Given the description of an element on the screen output the (x, y) to click on. 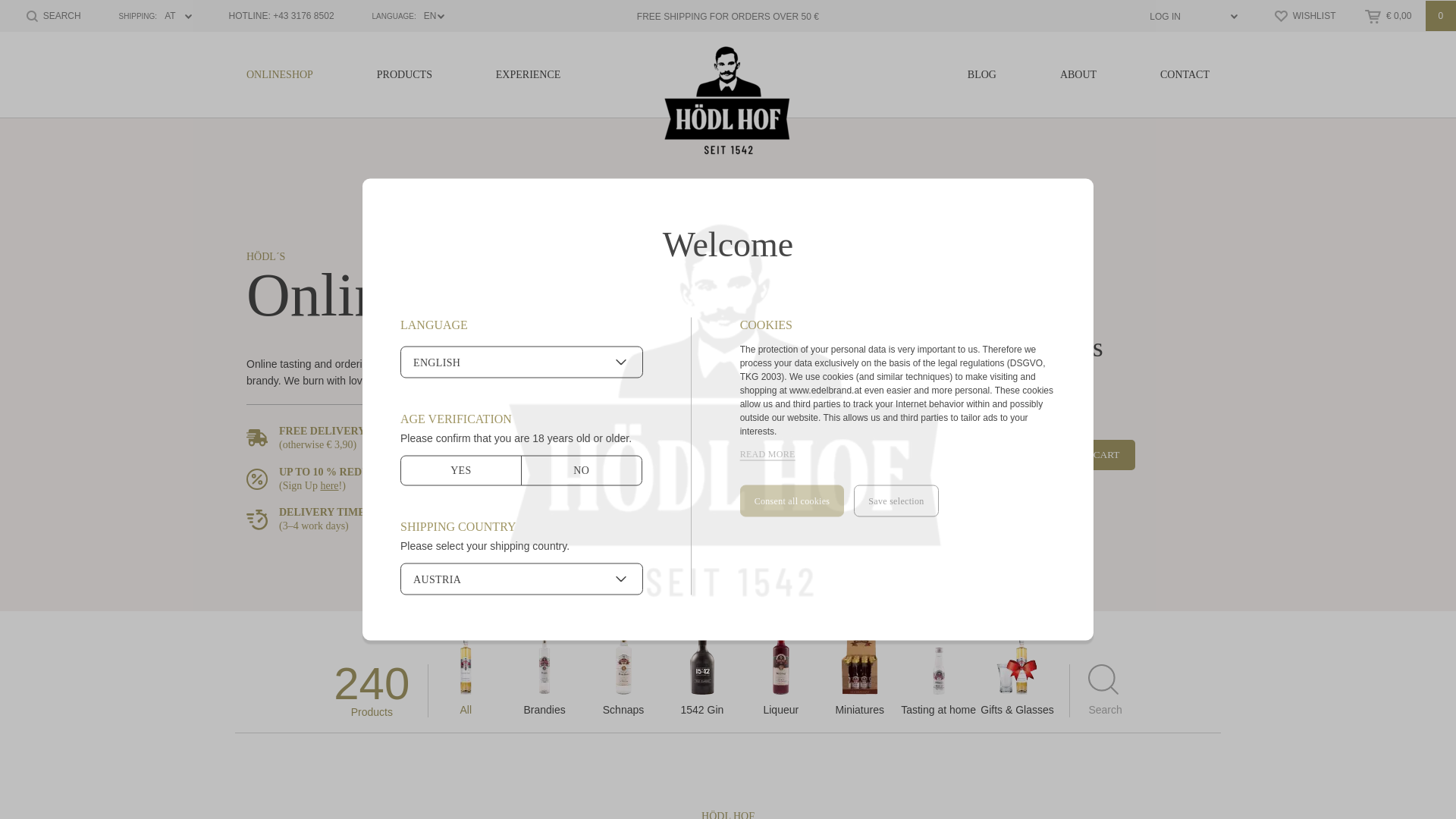
  WISHLIST (1305, 15)
LANGUAGE:EN (401, 15)
EN (401, 15)
at (149, 15)
Zum Schnapskorb (1409, 15)
LOG IN (1187, 16)
  SEARCH (53, 15)
Search (53, 15)
Wishlist (1305, 15)
Log in (1187, 16)
